Given the description of an element on the screen output the (x, y) to click on. 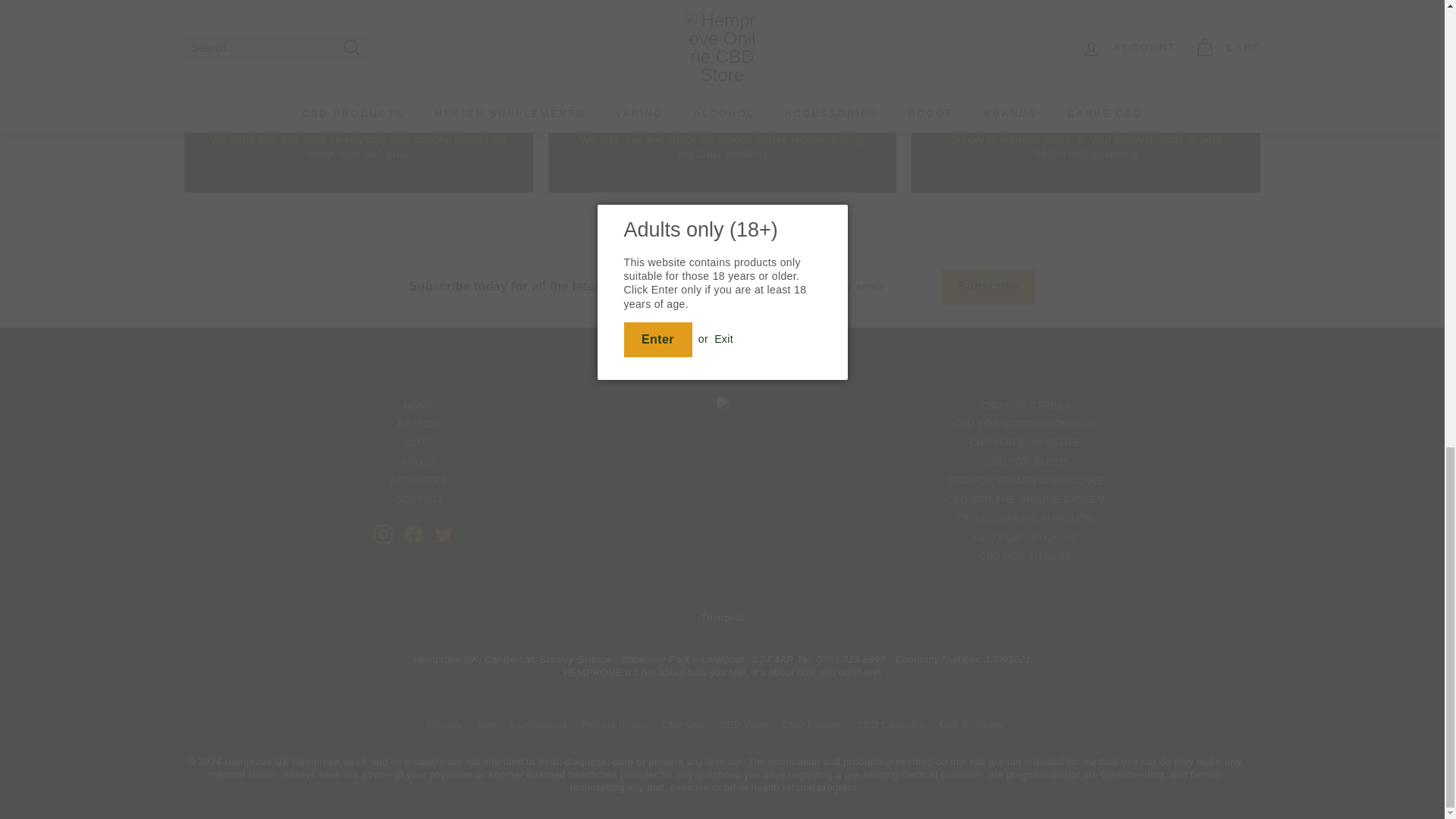
Hemprove UK on Instagram (381, 533)
Hemprove UK on Facebook (412, 533)
Hemprove UK on Twitter (442, 533)
